Given the description of an element on the screen output the (x, y) to click on. 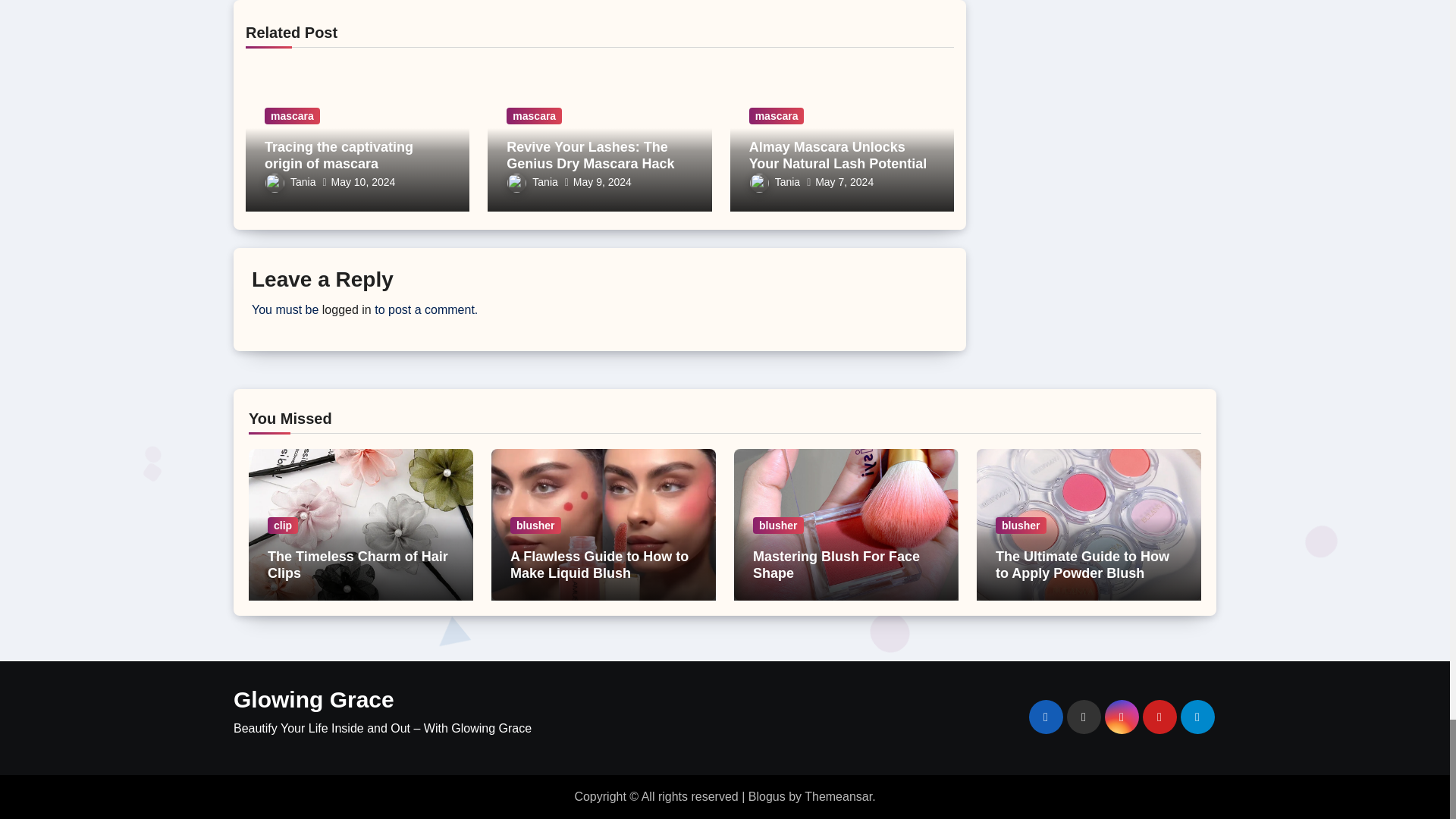
Permalink to: Tracing the captivating origin of mascara (338, 155)
Permalink to: A Flawless Guide to How to Make Liquid Blush (599, 564)
Permalink to: Mastering Blush For Face Shape (836, 564)
Permalink to: The Timeless Charm of Hair Clips (357, 564)
